Given the description of an element on the screen output the (x, y) to click on. 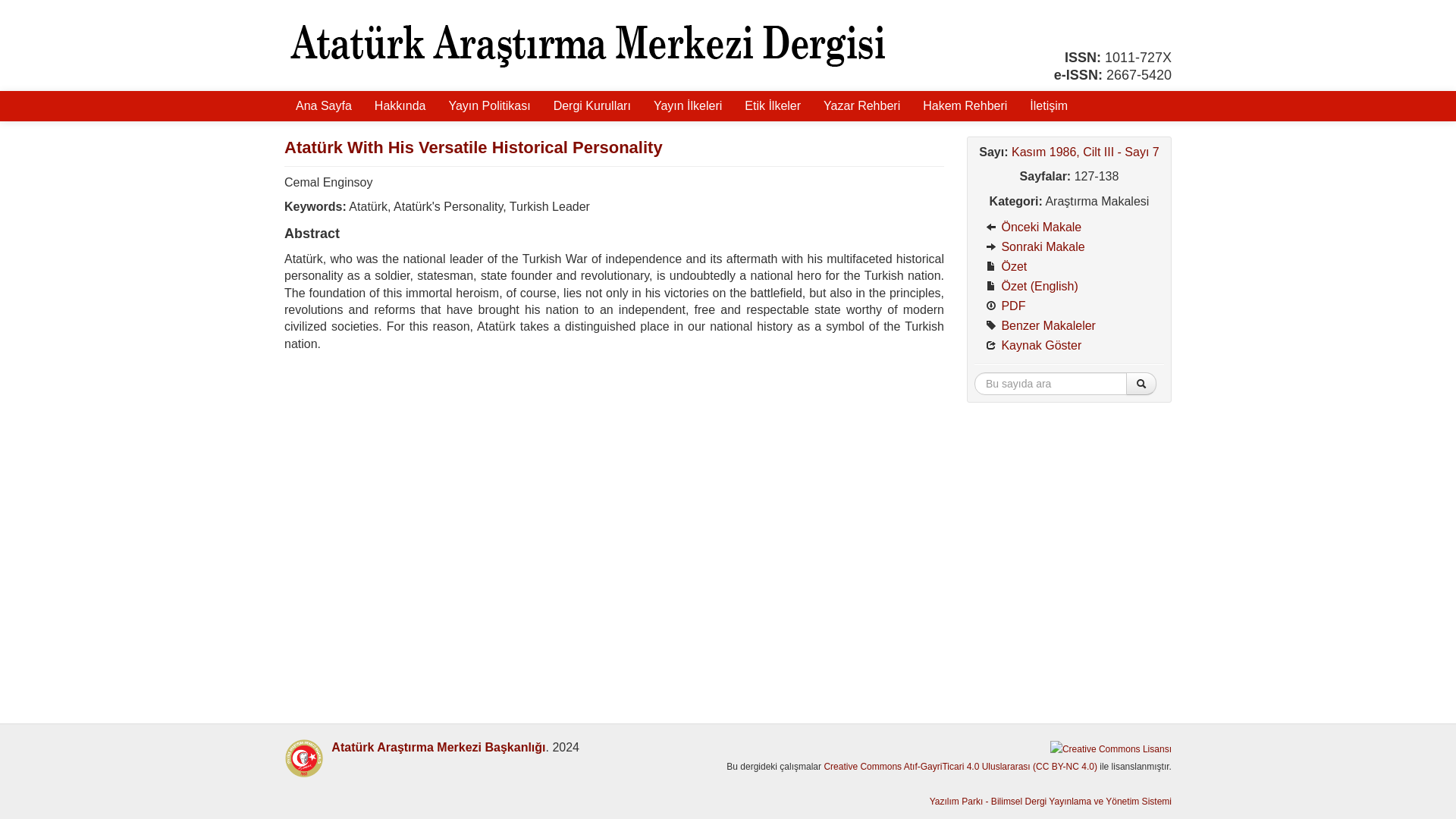
Ana Sayfa (322, 105)
Hakem Rehberi (964, 105)
Benzer Makaleler (1068, 325)
PDF (1068, 306)
Sonraki Makale (1068, 247)
Yazar Rehberi (861, 105)
